Given the description of an element on the screen output the (x, y) to click on. 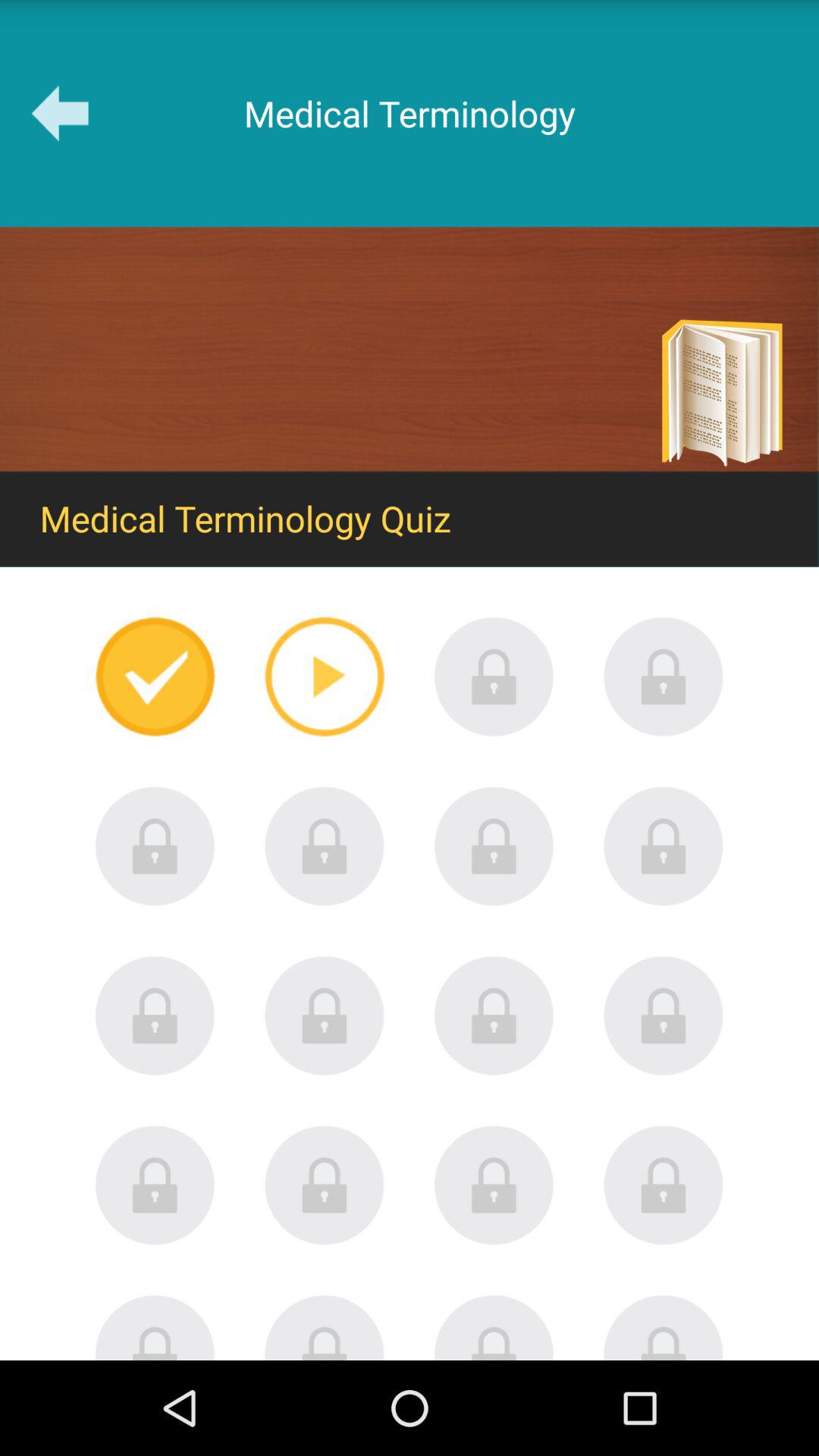
function is locked (324, 846)
